Given the description of an element on the screen output the (x, y) to click on. 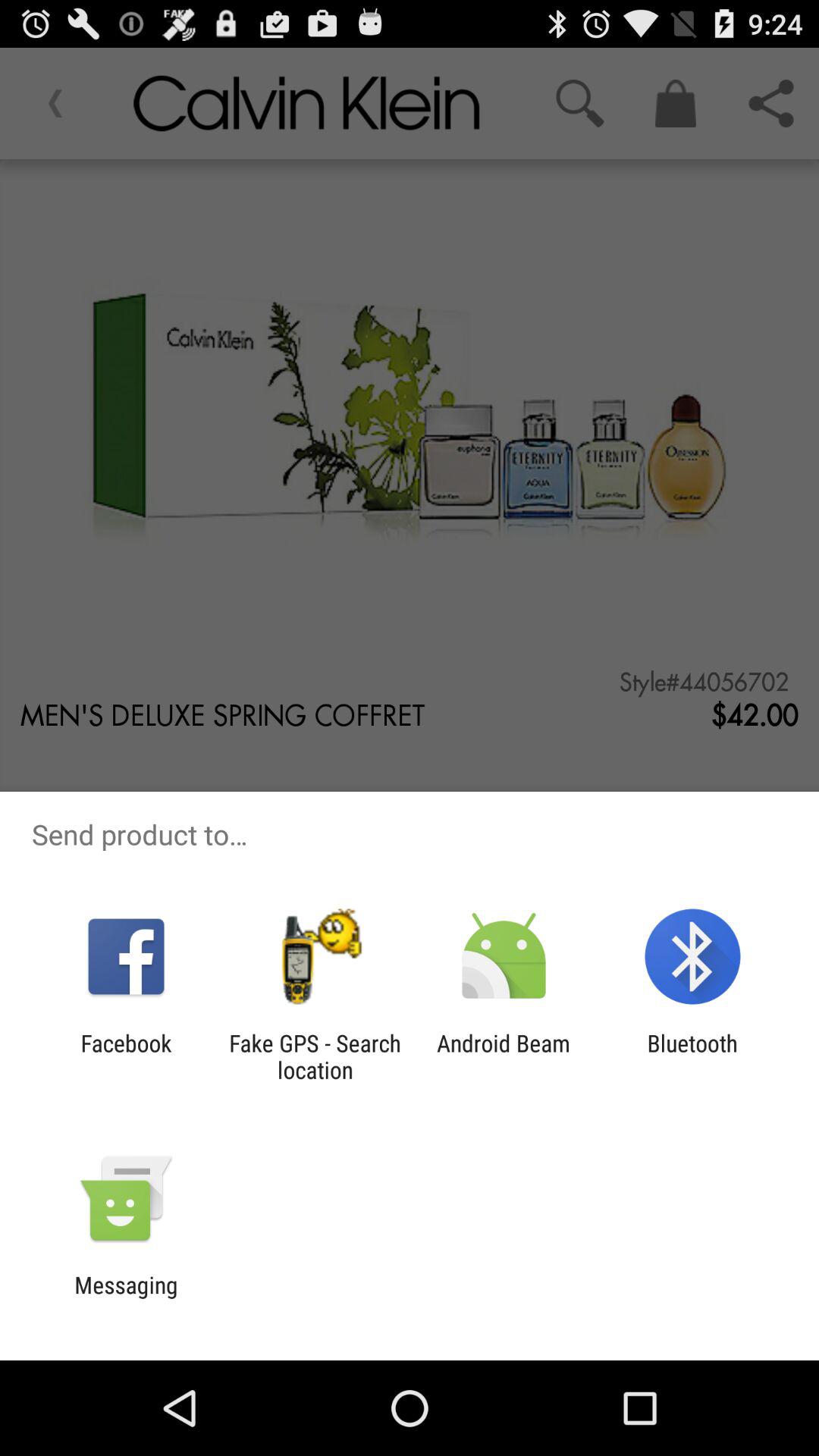
click the app to the left of android beam icon (314, 1056)
